Given the description of an element on the screen output the (x, y) to click on. 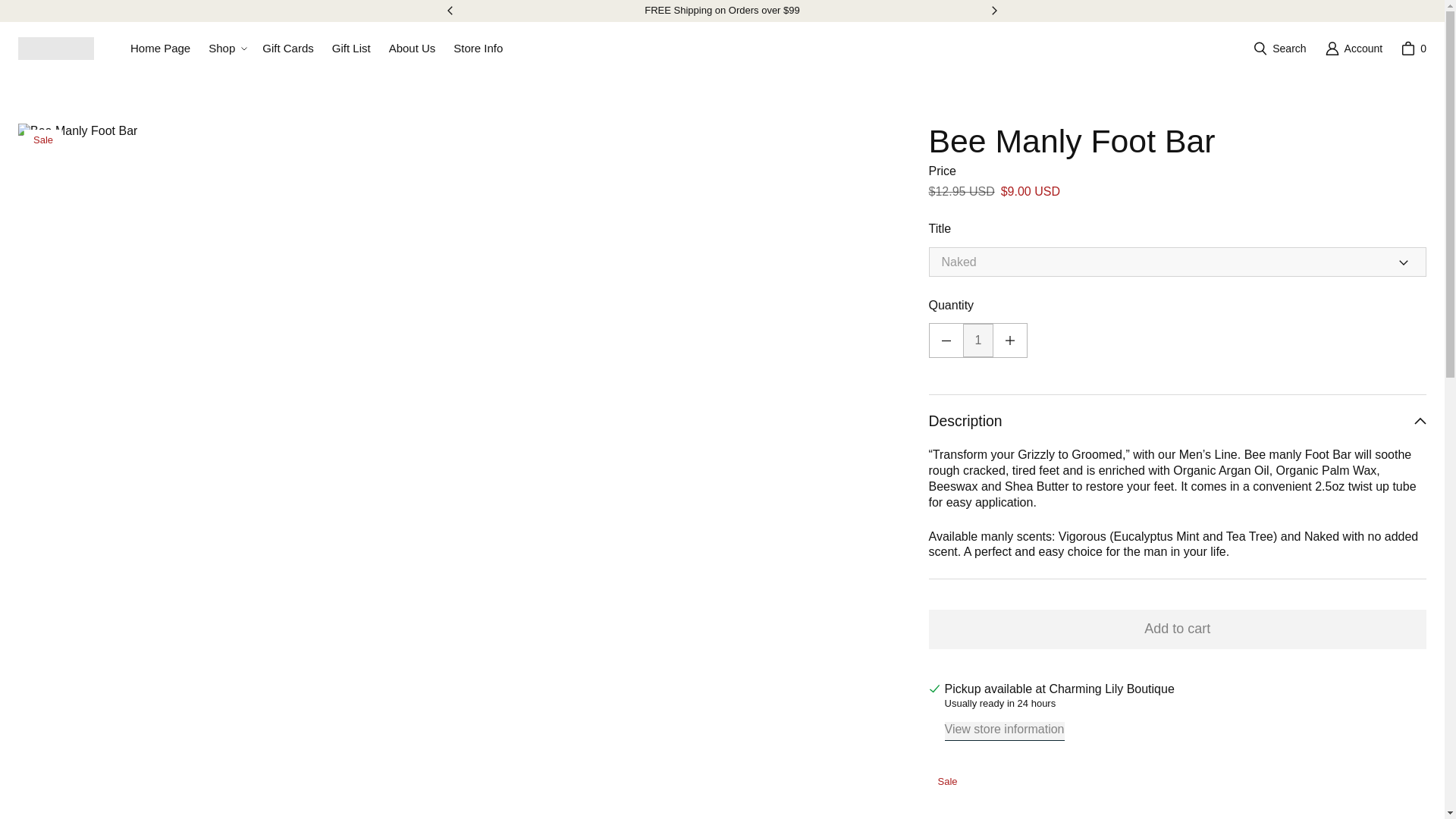
Home Page (159, 48)
1 (978, 340)
